Given the description of an element on the screen output the (x, y) to click on. 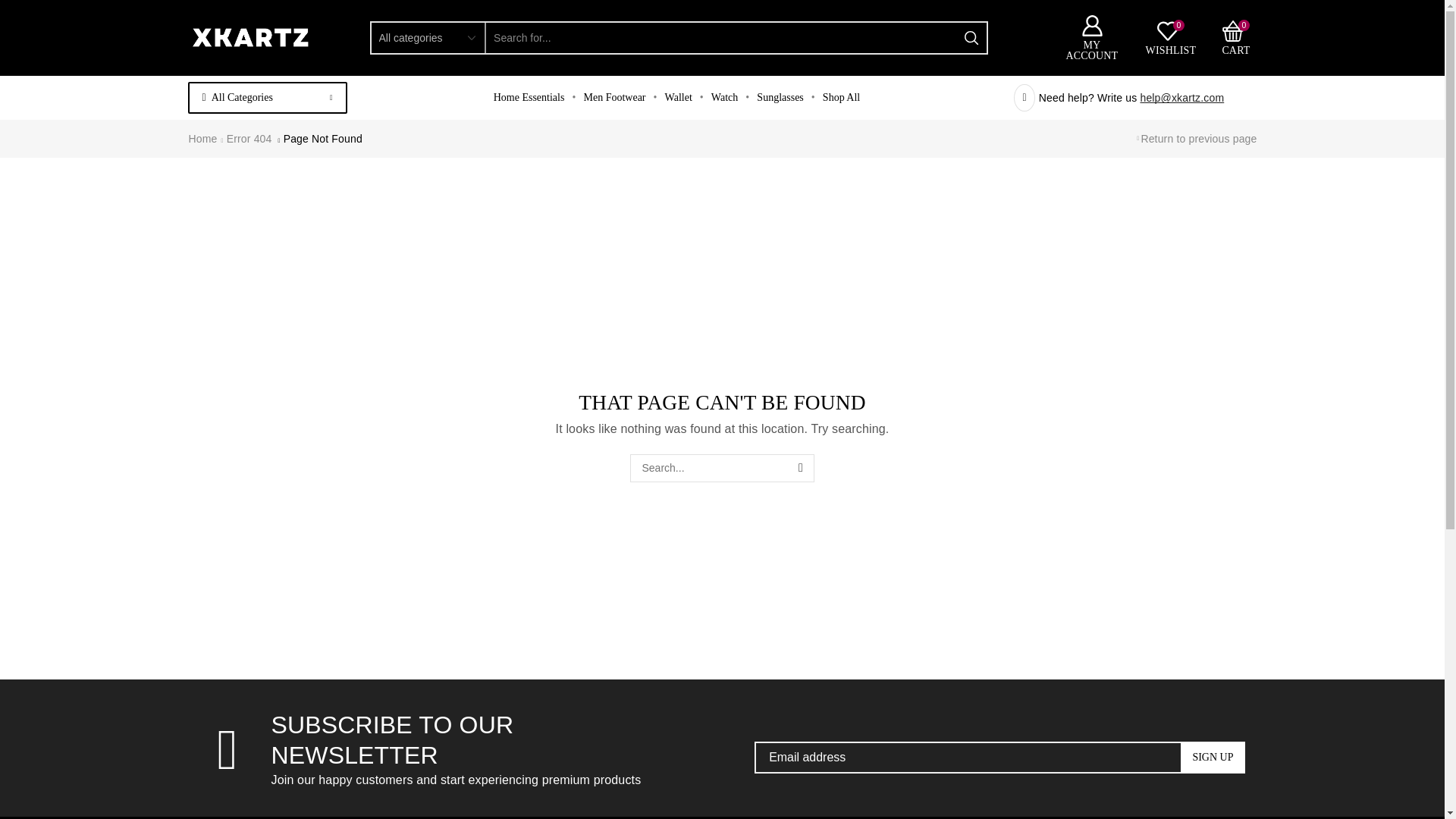
Men Footwear (613, 97)
Home Essentials (529, 97)
Sunglasses (779, 97)
Sign UP (1212, 757)
Watch (1235, 37)
Shop All (1170, 37)
Wallet (724, 97)
MY ACCOUNT (841, 97)
